Given the description of an element on the screen output the (x, y) to click on. 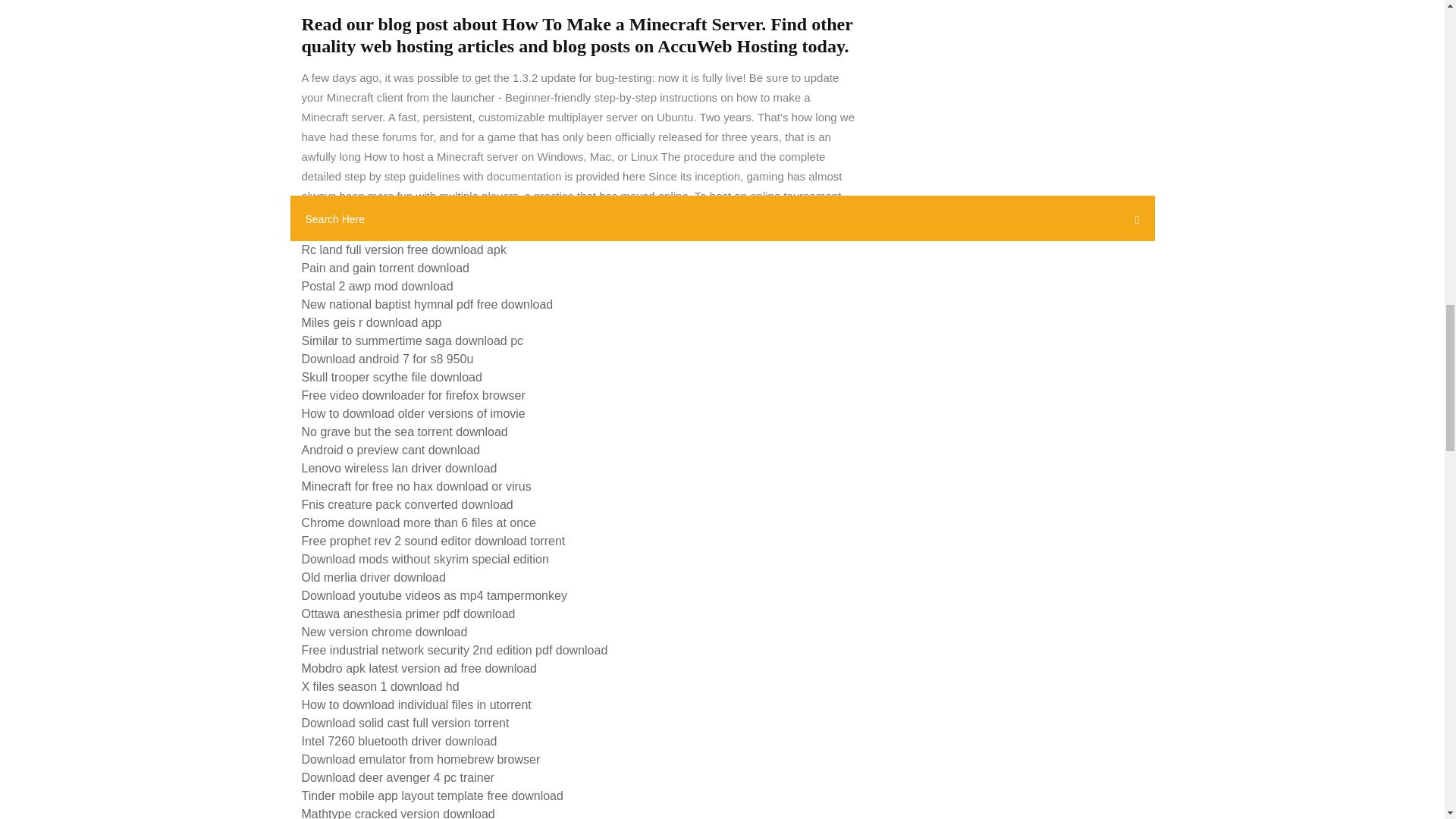
No grave but the sea torrent download (404, 431)
Chrome download more than 6 files at once (419, 522)
Free video downloader for firefox browser (413, 395)
Lenovo wireless lan driver download (399, 468)
Postal 2 awp mod download (376, 286)
Free prophet rev 2 sound editor download torrent (433, 540)
Ottawa anesthesia primer pdf download (408, 613)
Similar to summertime saga download pc (412, 340)
How to download older versions of imovie (413, 413)
Skull trooper scythe file download (391, 377)
